Given the description of an element on the screen output the (x, y) to click on. 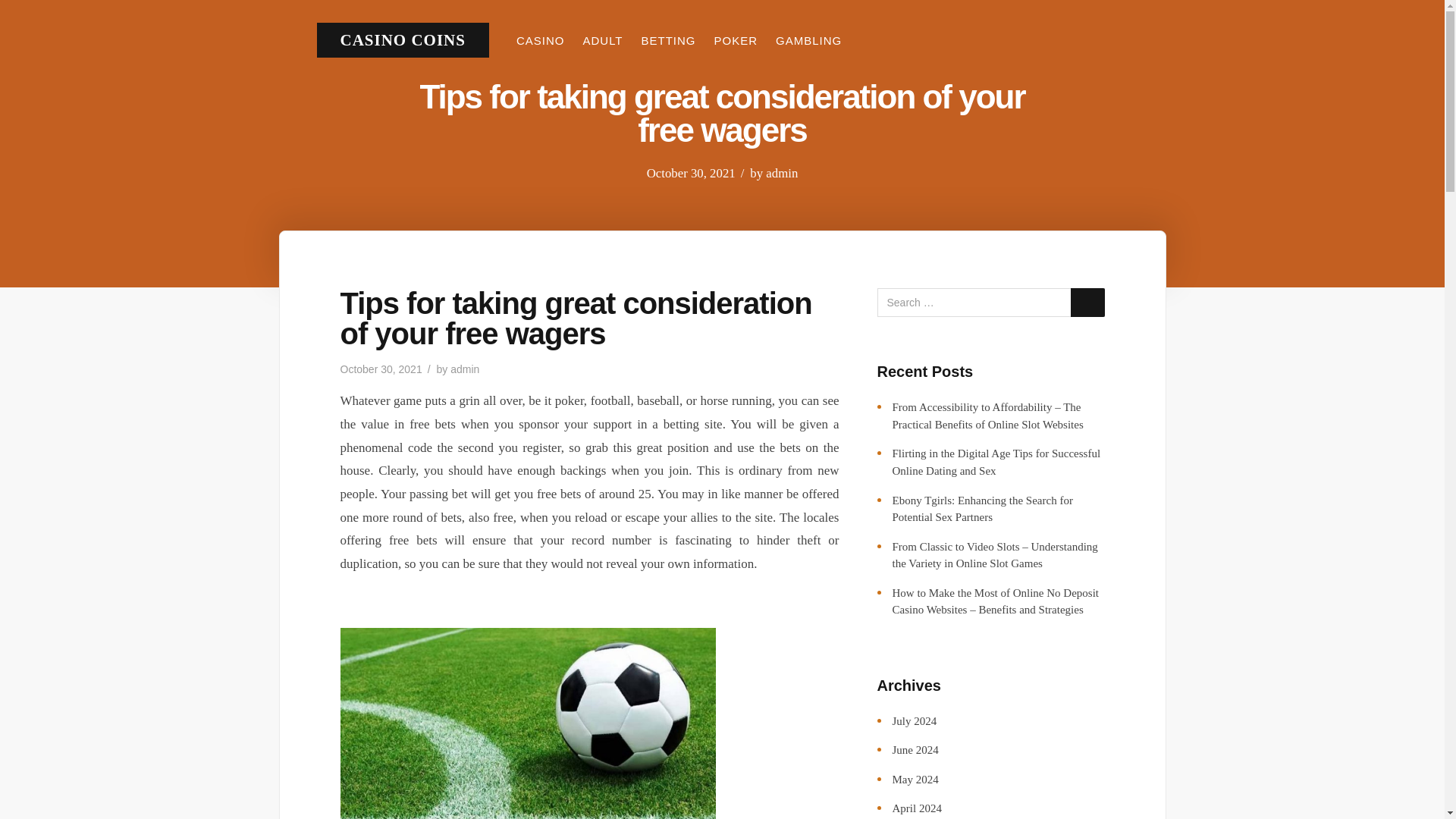
BETTING (668, 40)
CASINO COINS (401, 40)
October 30, 2021 (690, 173)
July 2024 (913, 720)
June 2024 (914, 749)
April 2024 (915, 808)
CASINO (540, 40)
May 2024 (914, 779)
POKER (735, 40)
Search for: (989, 302)
admin (781, 173)
October 30, 2021 (380, 369)
GAMBLING (808, 40)
